Given the description of an element on the screen output the (x, y) to click on. 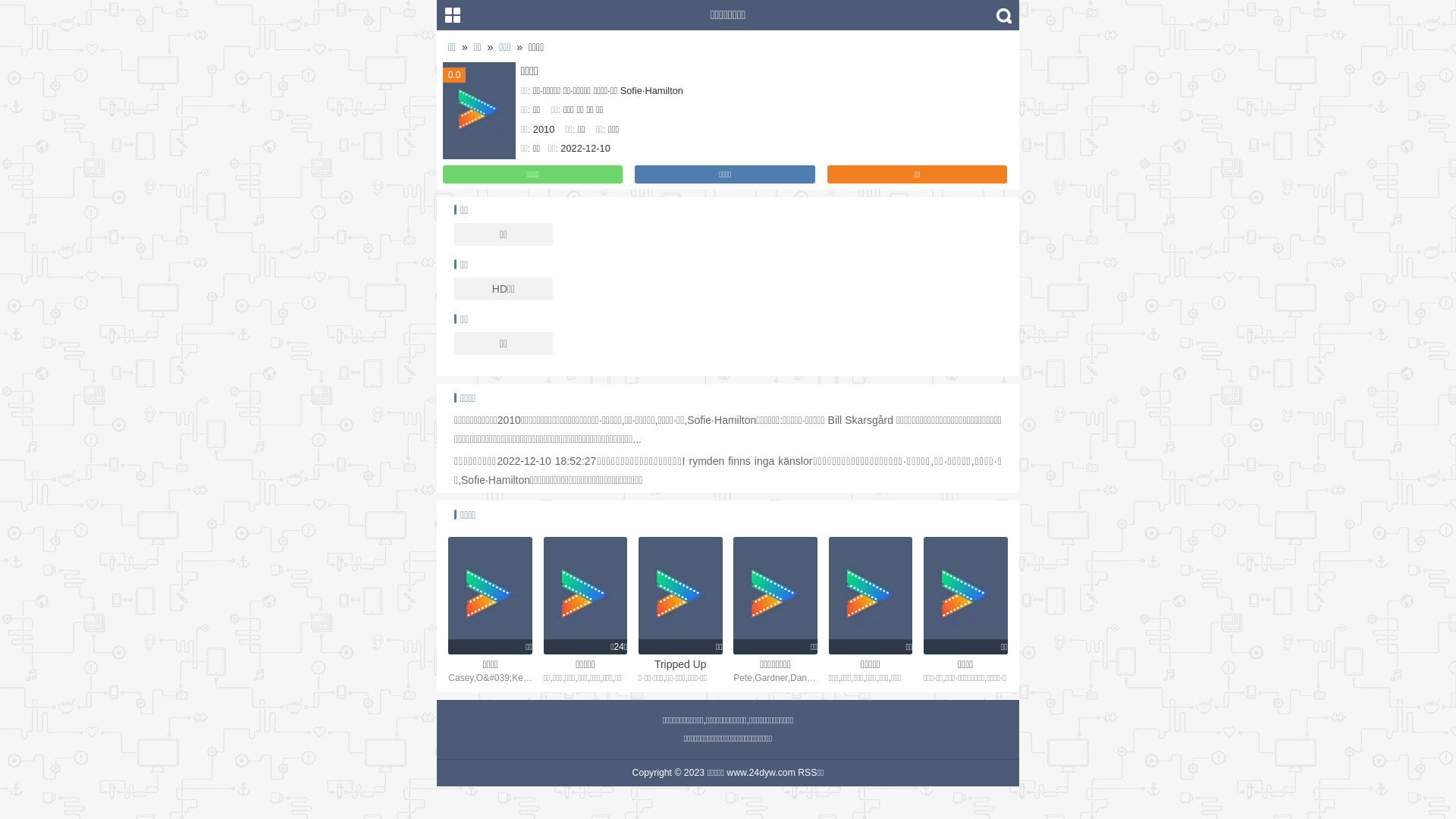
2010 Element type: text (543, 128)
